Given the description of an element on the screen output the (x, y) to click on. 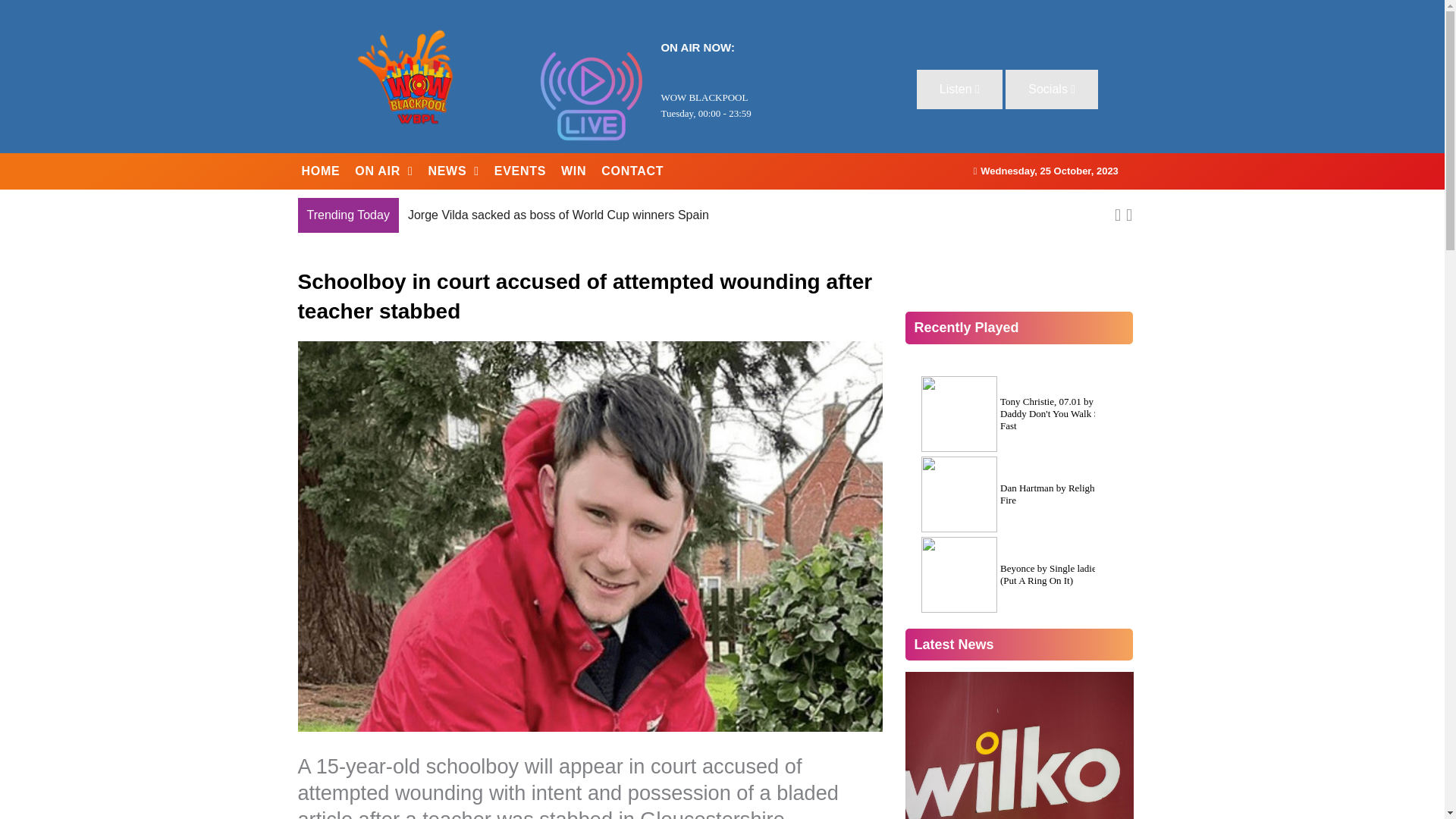
ON AIR (383, 171)
CONTACT (632, 171)
HOME (320, 171)
Listen (960, 88)
NEWS (453, 171)
EVENTS (519, 171)
Socials (1051, 88)
WIN (573, 171)
